Given the description of an element on the screen output the (x, y) to click on. 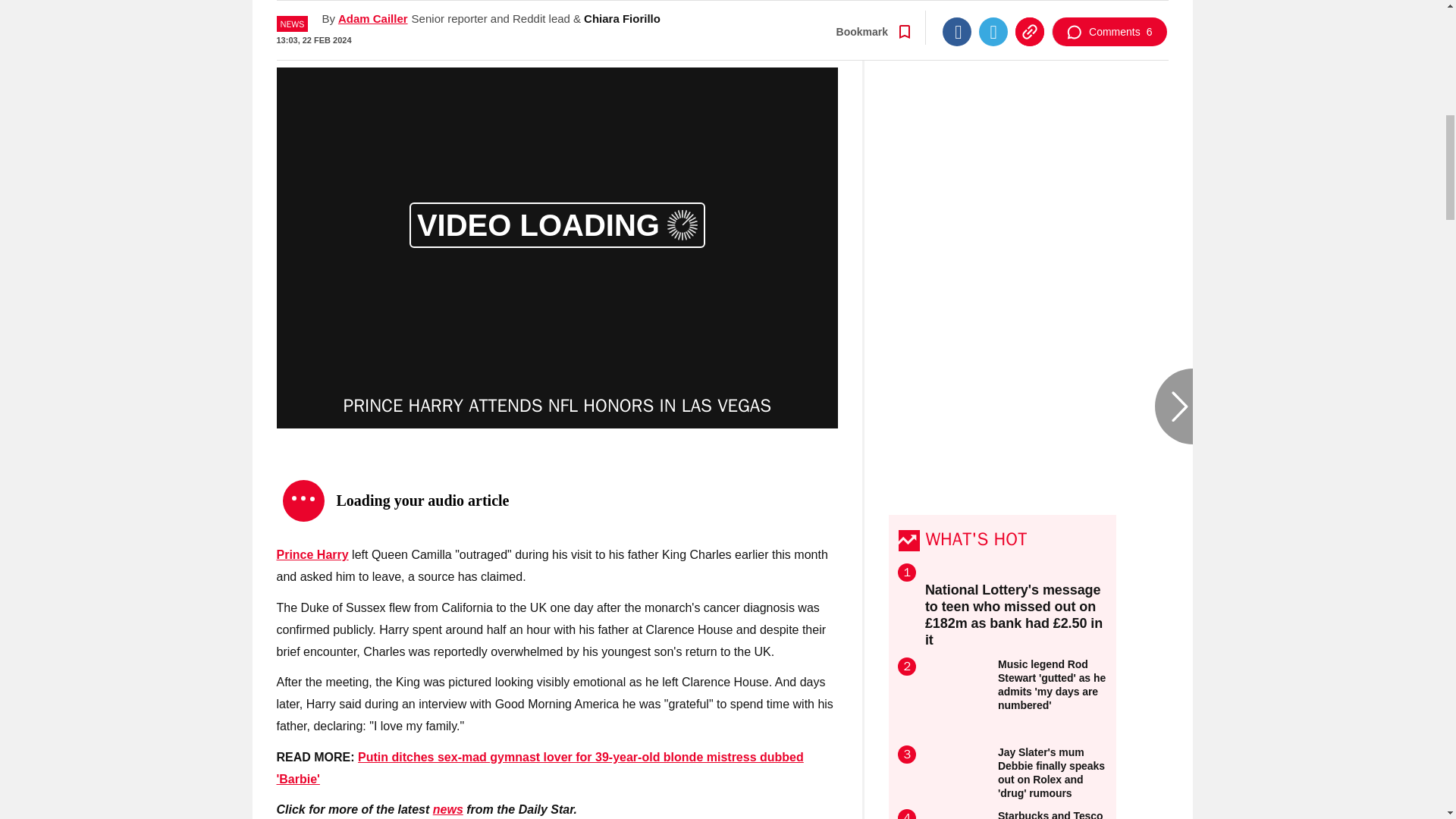
Comments (1108, 10)
Twitter (992, 10)
Facebook (956, 10)
